Given the description of an element on the screen output the (x, y) to click on. 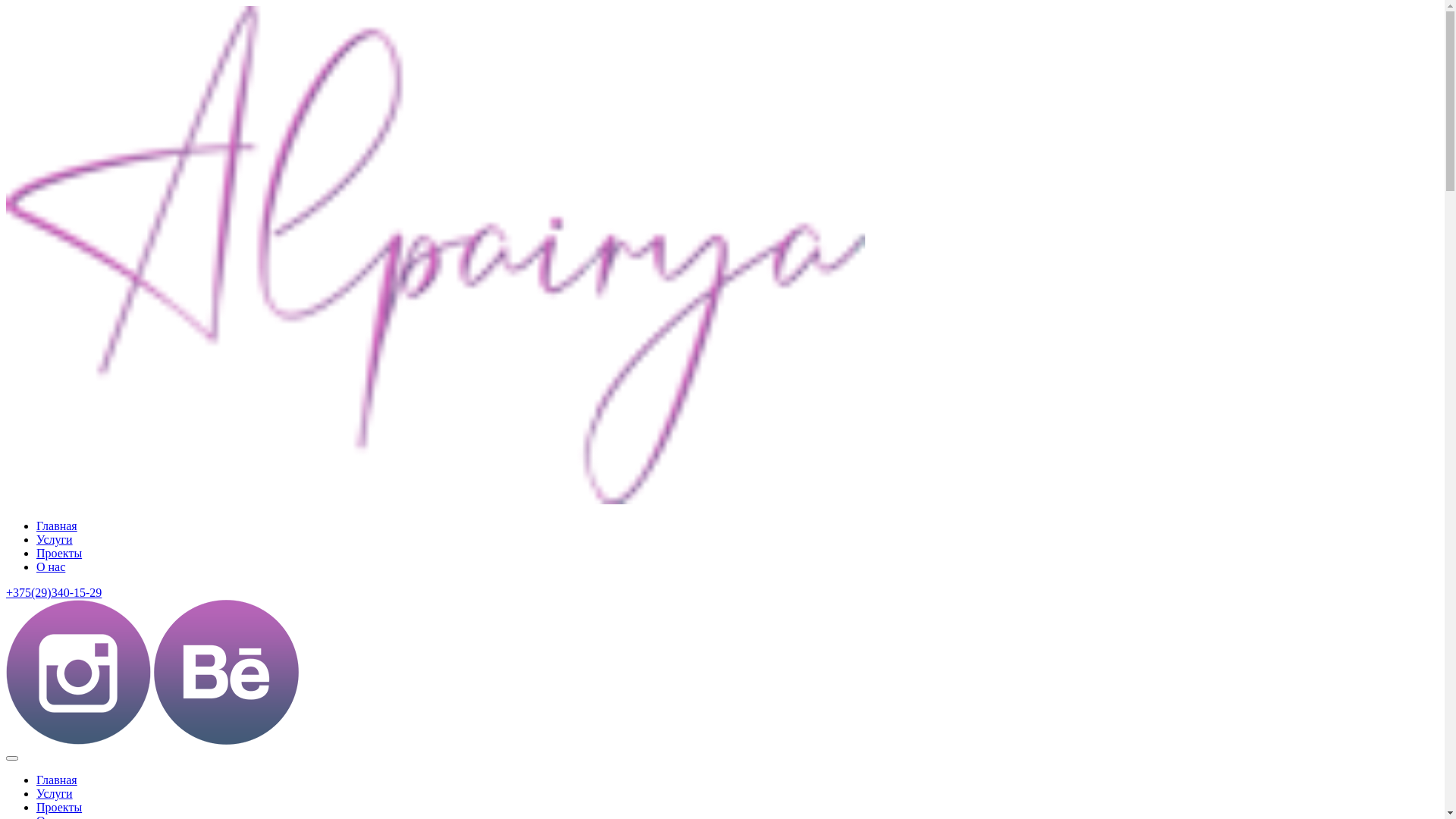
+375(29)340-15-29 Element type: text (53, 592)
